Given the description of an element on the screen output the (x, y) to click on. 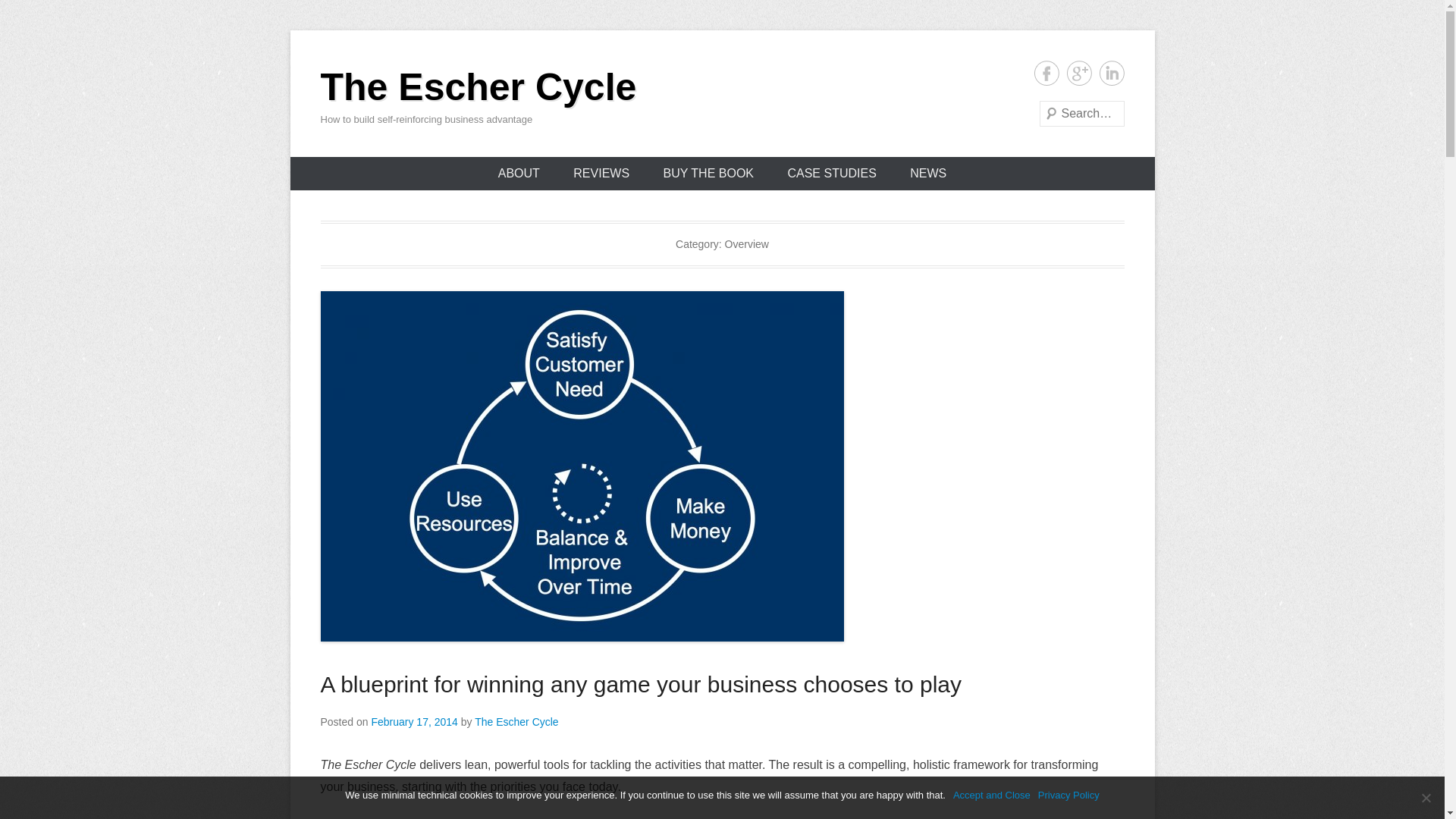
1:55 pm (414, 721)
Search (32, 15)
Facebook (1046, 72)
LinkedIn (1111, 72)
View all posts by The Escher Cycle (515, 721)
BUY THE BOOK (707, 173)
Facebook (1046, 72)
The Escher Cycle (478, 87)
